Given the description of an element on the screen output the (x, y) to click on. 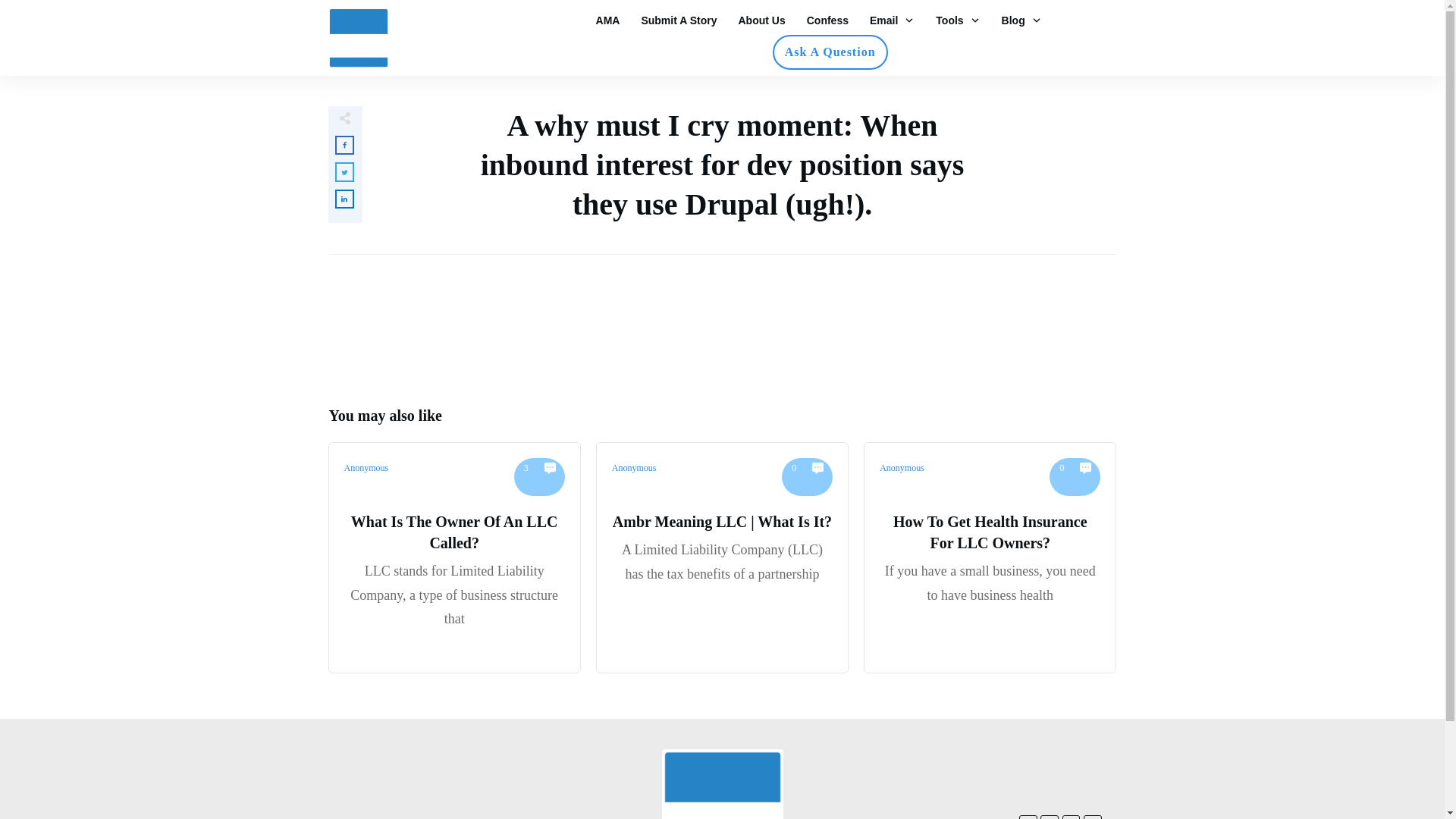
AMA (607, 20)
Email (891, 20)
How To Get Health Insurance For LLC Owners? (990, 532)
What Is The Owner Of An LLC Called? (453, 532)
Blog (1021, 20)
About Us (762, 20)
Anonymous (633, 467)
Tools (957, 20)
Anonymous (365, 467)
Anonymous (901, 467)
Confess (827, 20)
Submit A Story (678, 20)
